Given the description of an element on the screen output the (x, y) to click on. 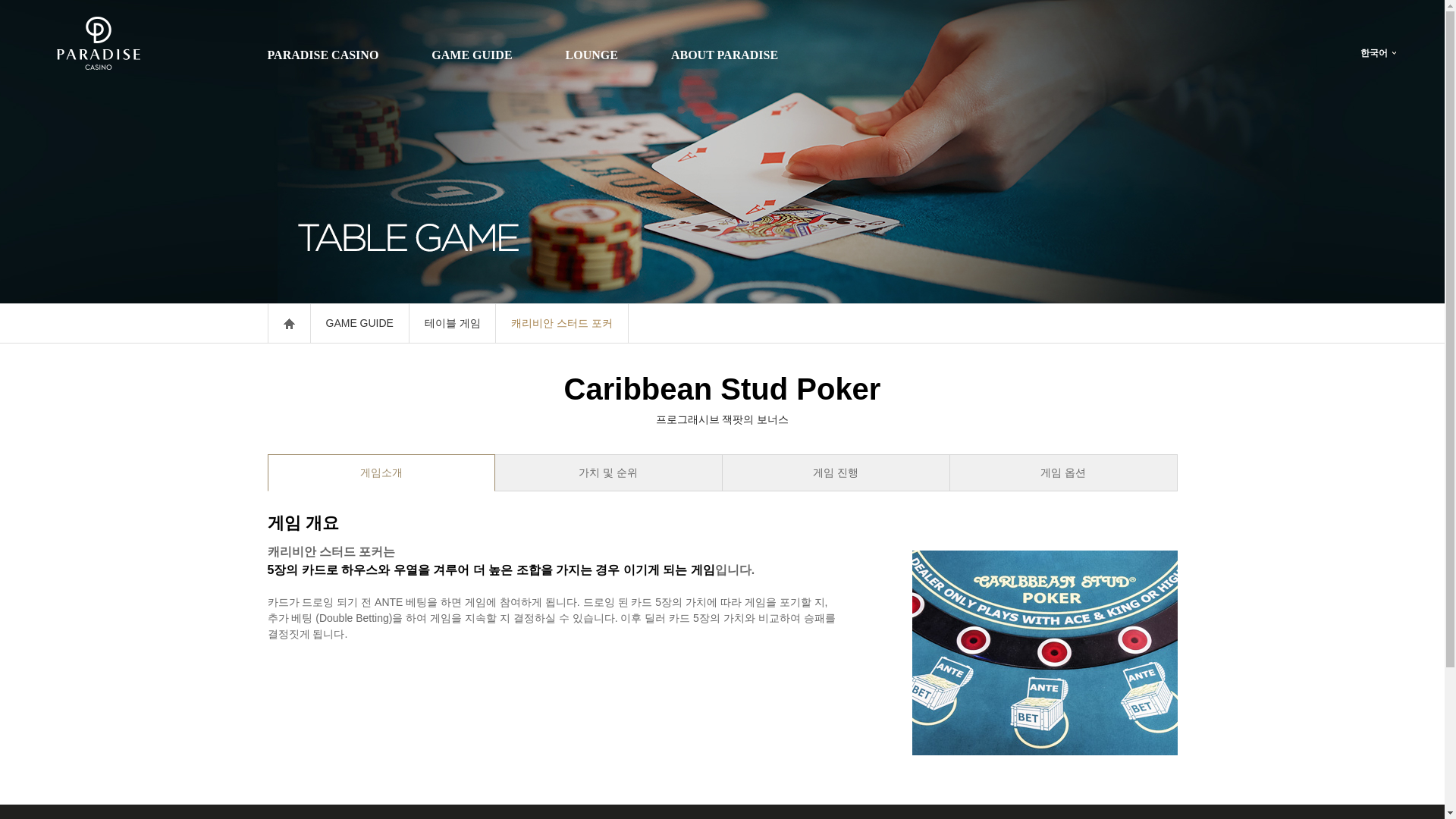
GAME GUIDE (357, 323)
ABOUT PARADISE (724, 55)
PARADISE CASINO (322, 55)
GAME GUIDE (471, 55)
LOUNGE (591, 55)
